Given the description of an element on the screen output the (x, y) to click on. 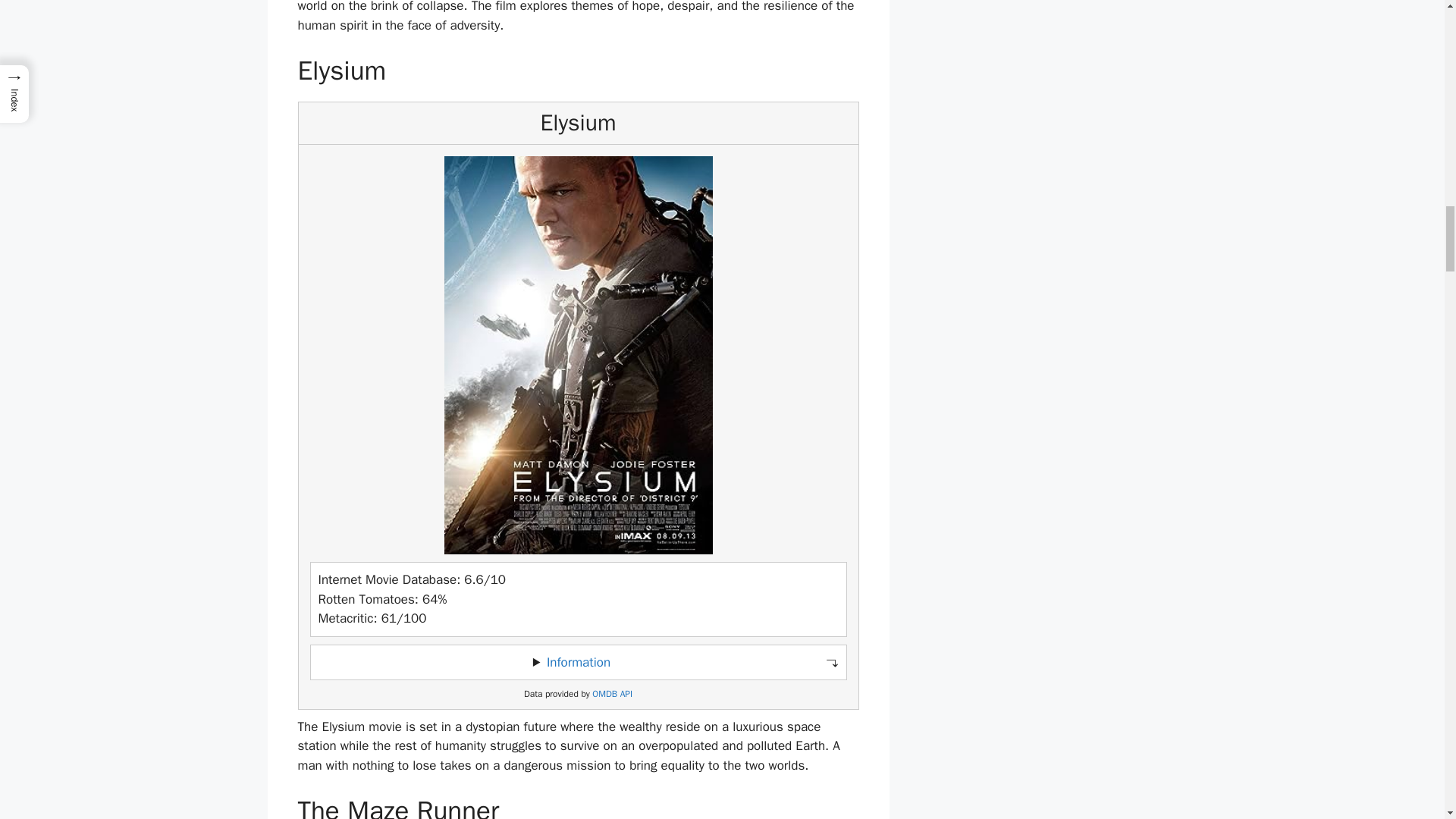
Toggle information (578, 662)
OMDB API (611, 694)
Information (578, 662)
Open Movie Database API (611, 694)
